Given the description of an element on the screen output the (x, y) to click on. 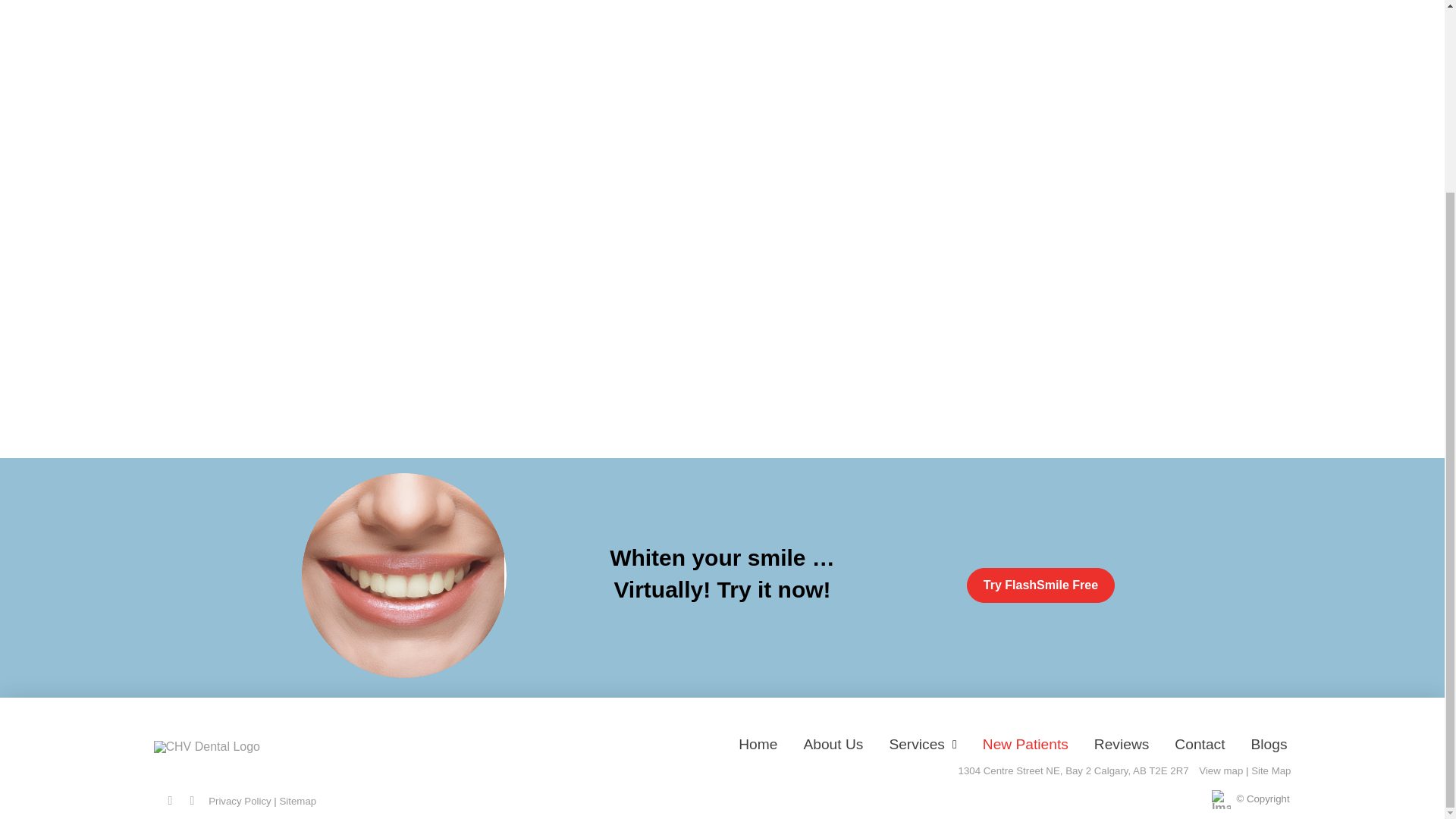
Site Map (1270, 770)
Services (922, 743)
About Us (833, 743)
Try FlashSmile Free (1040, 585)
Home (757, 743)
